Given the description of an element on the screen output the (x, y) to click on. 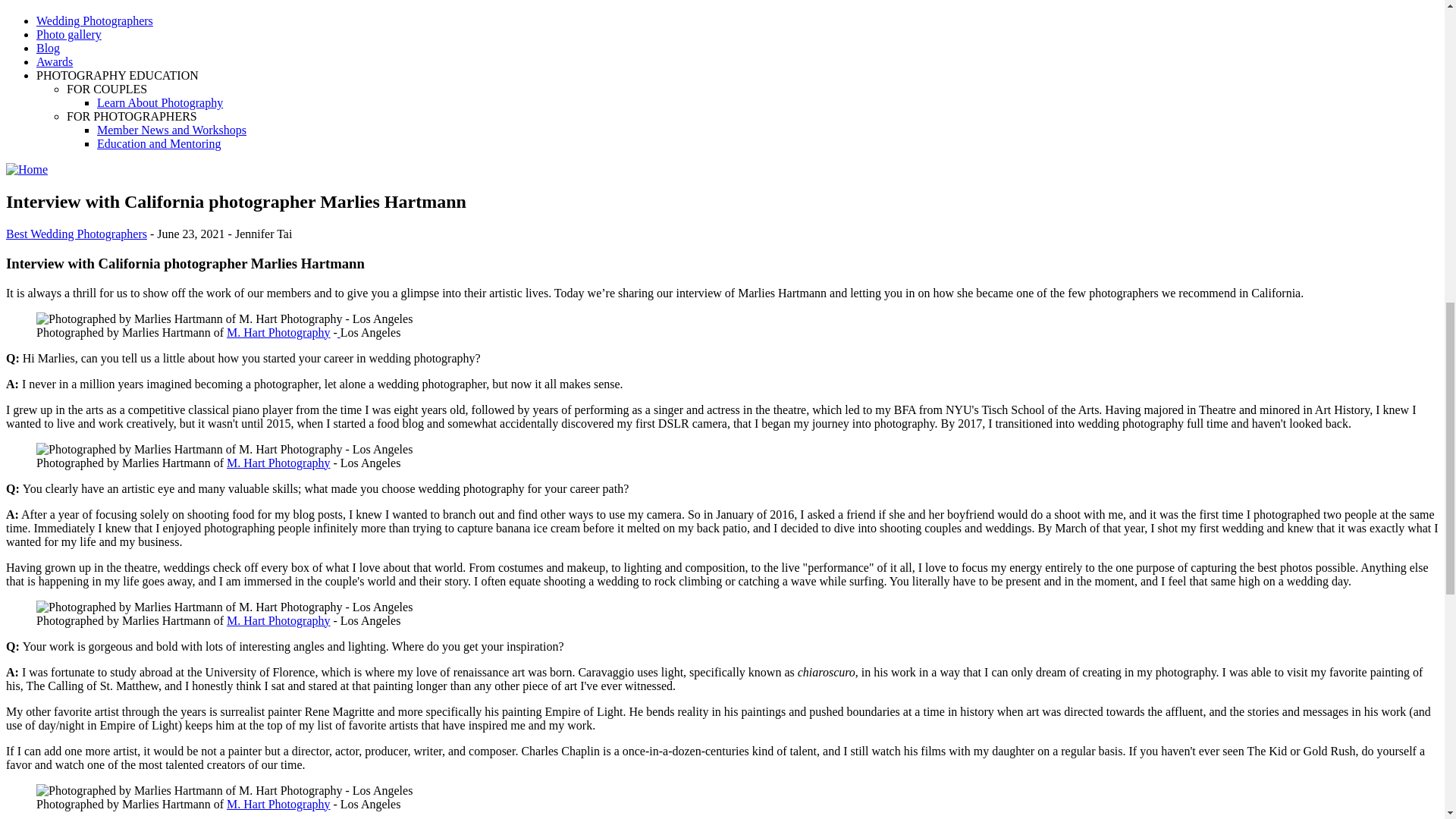
Education and Mentoring (159, 143)
Photo gallery (68, 33)
Wedding Ceremony Award Winners (54, 61)
Wedding Photographers (94, 20)
Awards (54, 61)
Member News and Workshops (171, 129)
Blog (47, 47)
Learn About Photography (159, 102)
